Given the description of an element on the screen output the (x, y) to click on. 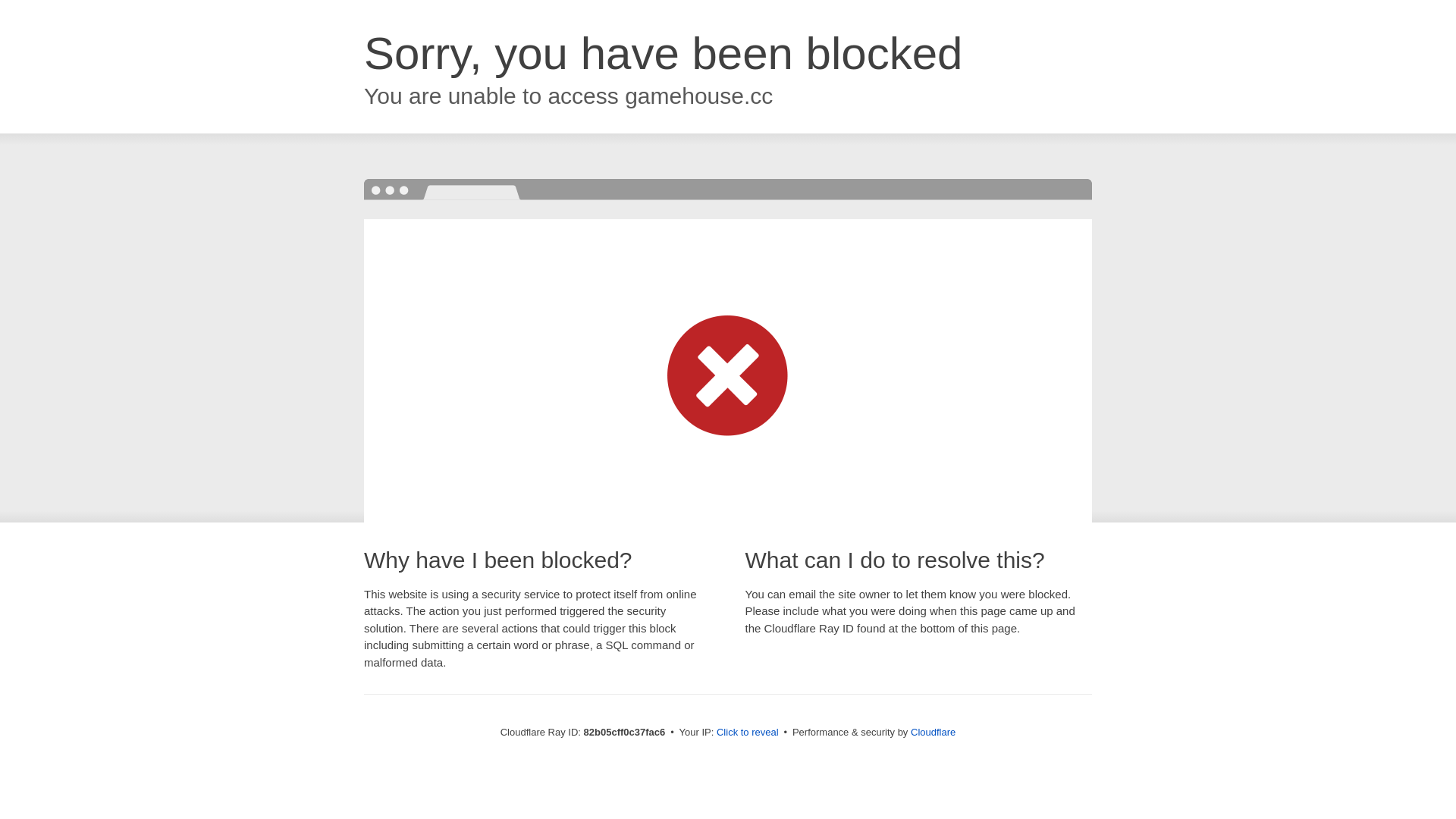
Cloudflare Element type: text (932, 731)
Click to reveal Element type: text (747, 732)
